Given the description of an element on the screen output the (x, y) to click on. 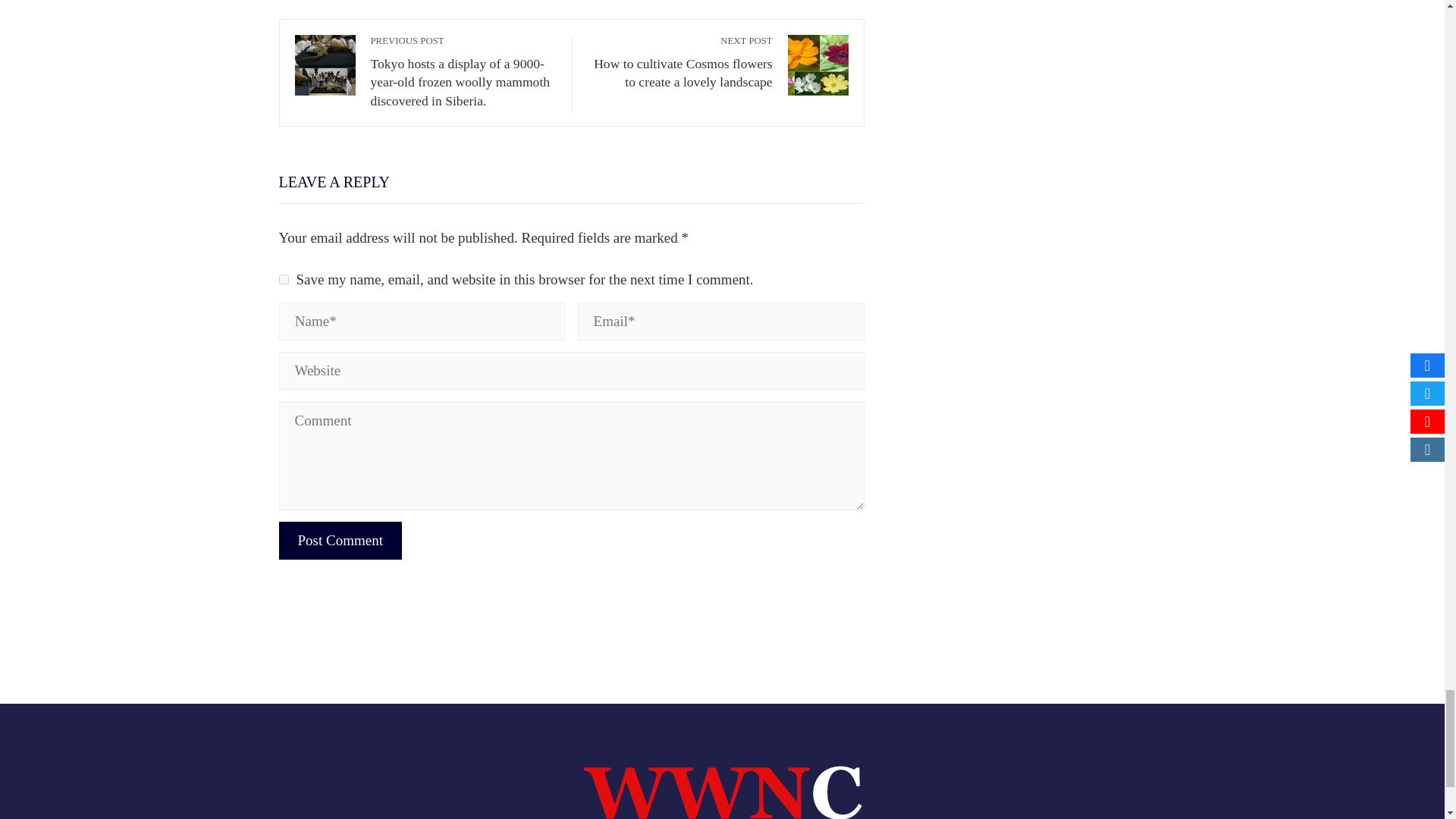
Post Comment (340, 540)
Post Comment (340, 540)
yes (283, 279)
